Given the description of an element on the screen output the (x, y) to click on. 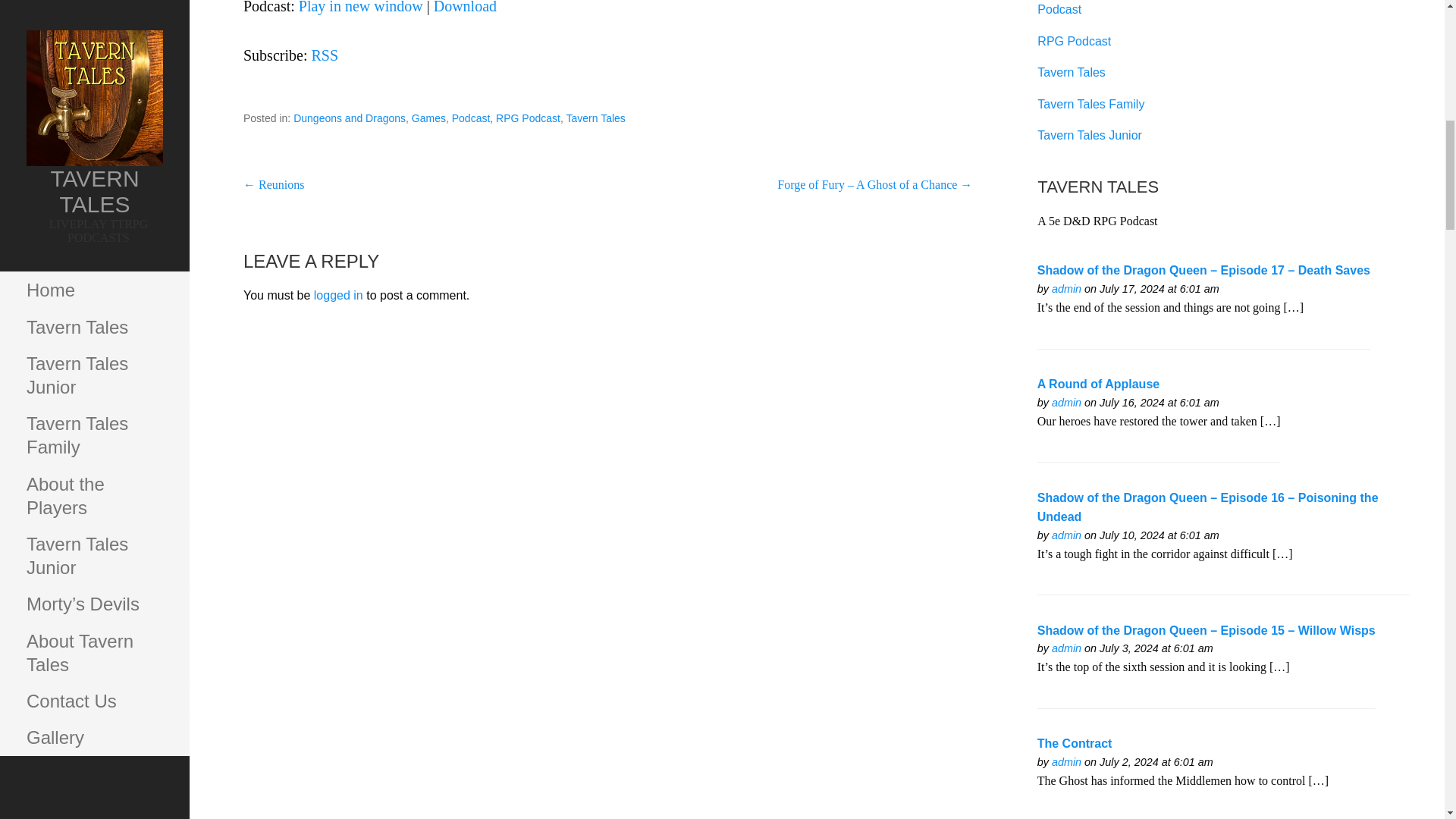
www.taverntales.ca (1066, 648)
www.taverntales.ca (1066, 288)
Subscribe via RSS (324, 54)
www.taverntales.ca (1066, 761)
www.taverntales.ca (1066, 535)
Download (464, 7)
Play in new window (360, 7)
www.taverntales.ca (1066, 402)
